Given the description of an element on the screen output the (x, y) to click on. 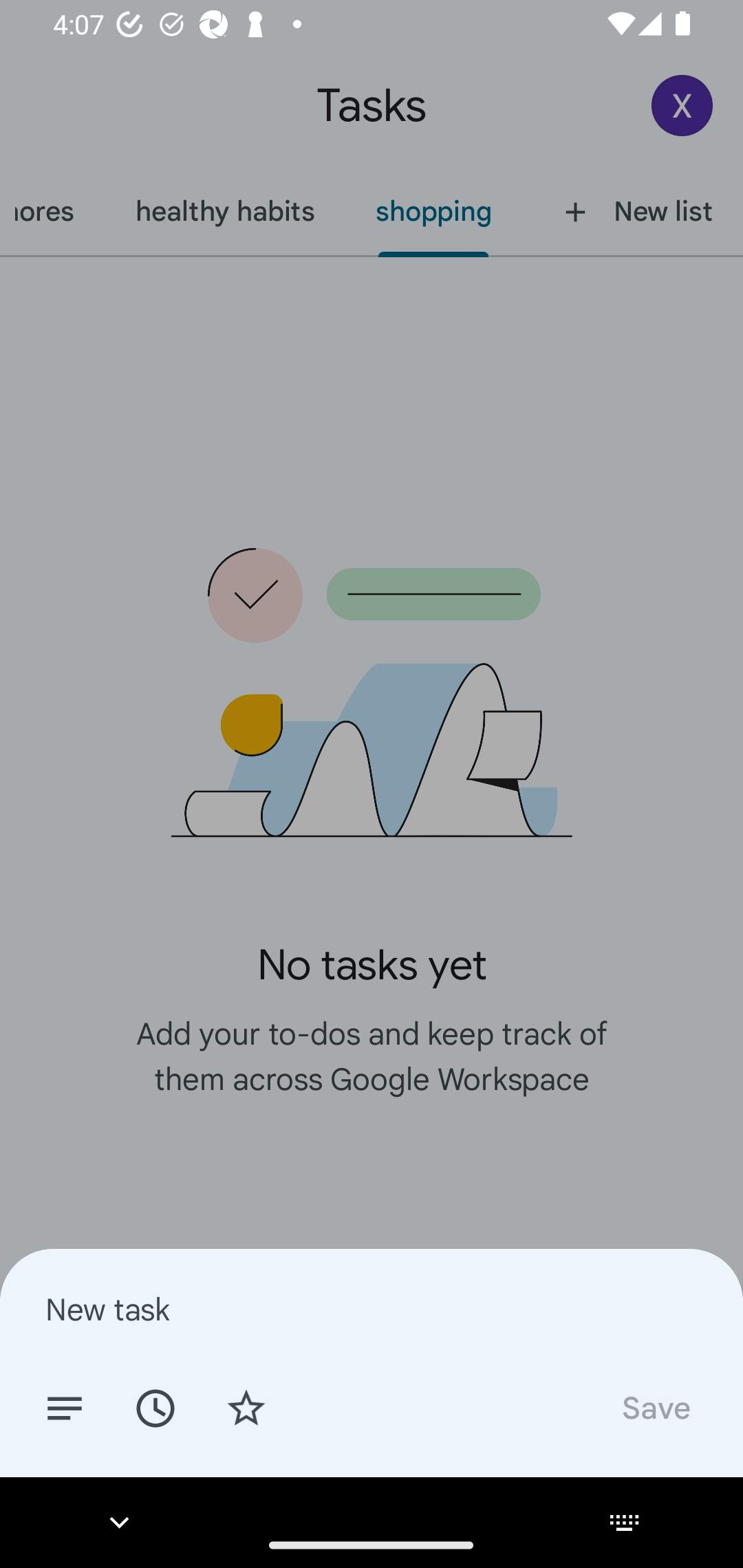
New task (371, 1308)
Save (655, 1407)
Add details (64, 1407)
Set date/time (154, 1407)
Add star (245, 1407)
